Given the description of an element on the screen output the (x, y) to click on. 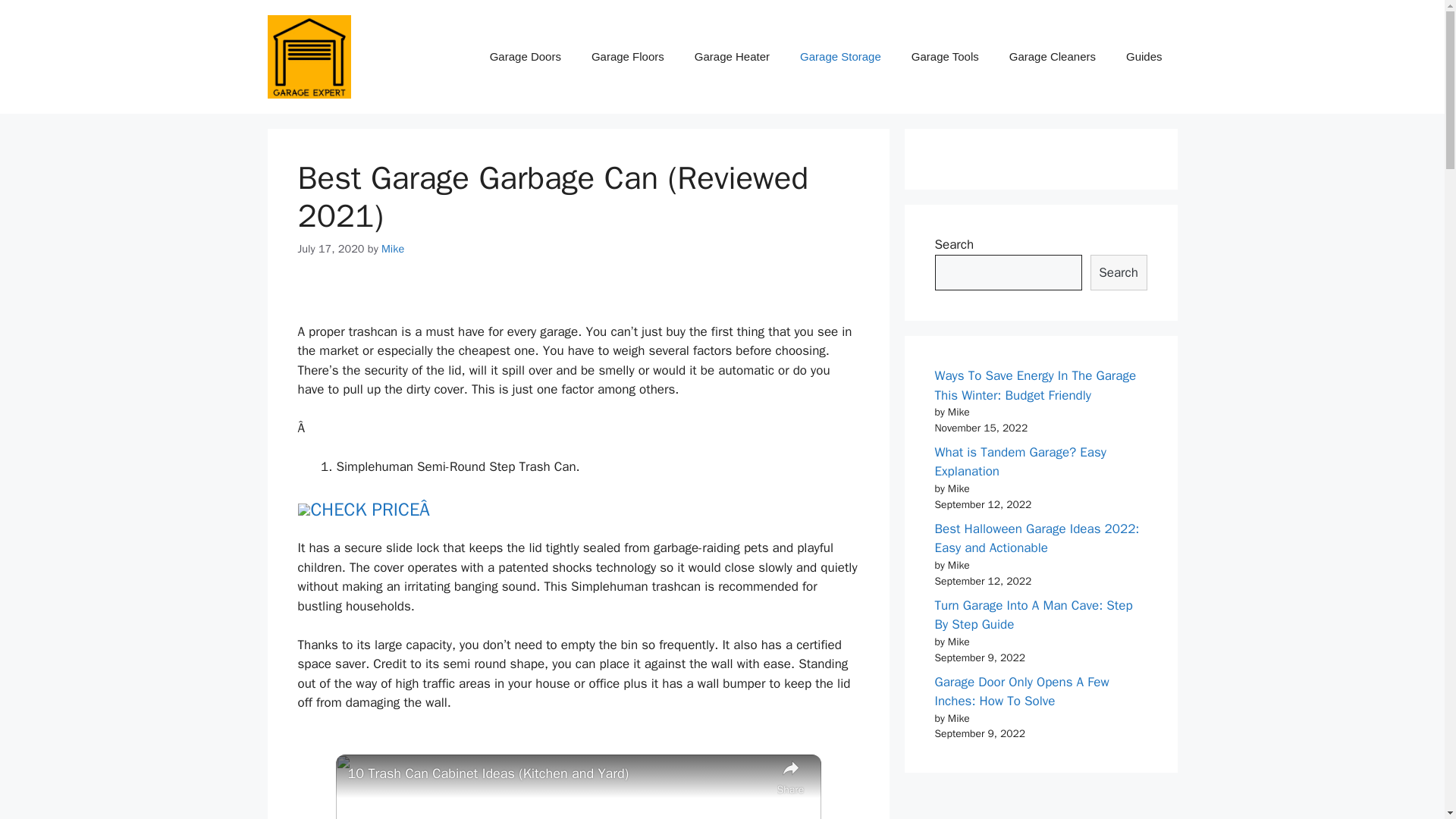
View all posts by Mike (392, 248)
Garage Cleaners (1052, 56)
Garage Expert (308, 55)
Garage Tools (945, 56)
Mike (392, 248)
Garage Expert (308, 56)
Garage Storage (840, 56)
Garage Floors (627, 56)
Garage Doors (525, 56)
Garage Heater (731, 56)
Guides (1143, 56)
